Given the description of an element on the screen output the (x, y) to click on. 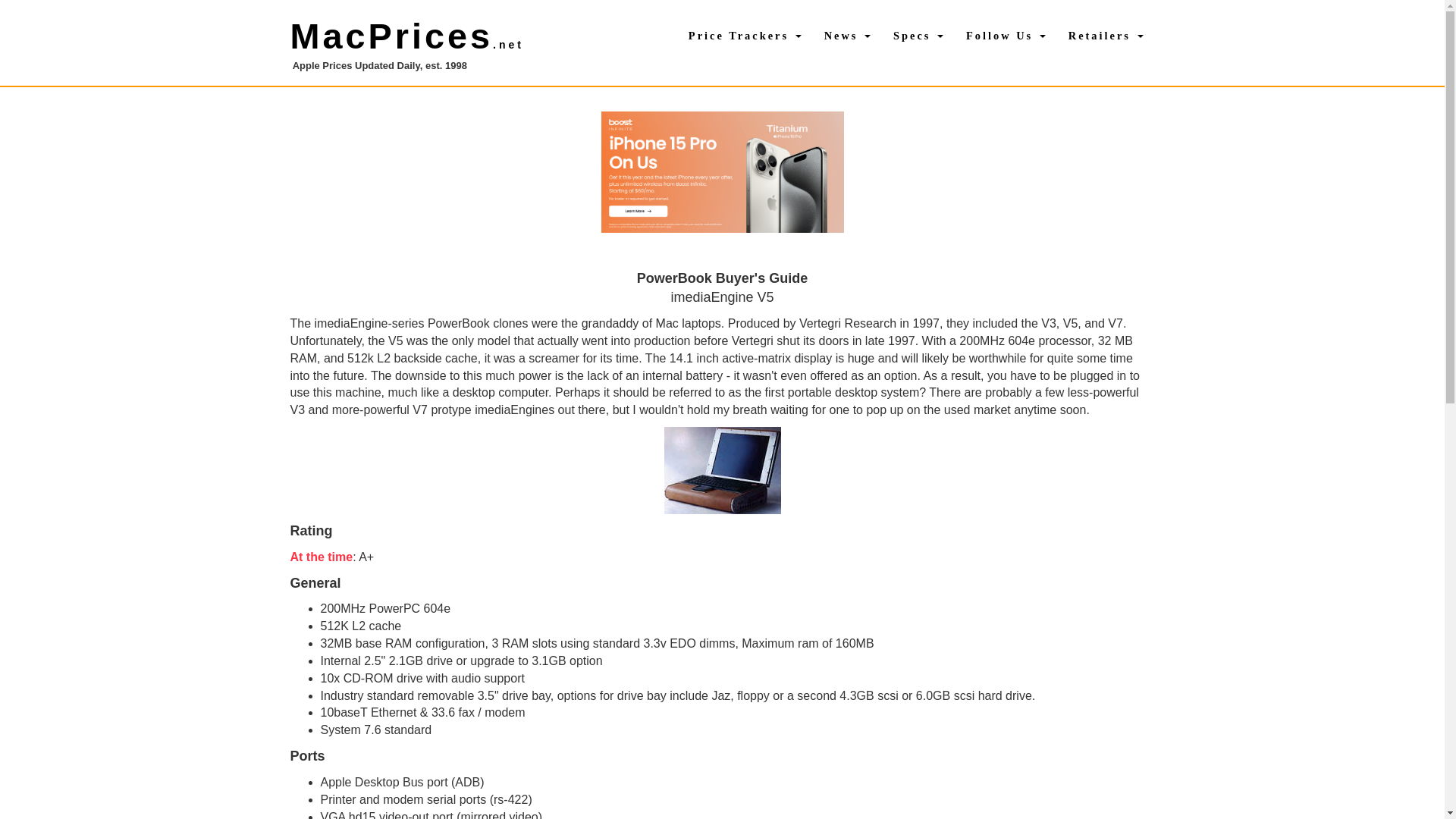
Price Trackers (745, 35)
MacPrices.net (406, 36)
Specs (918, 35)
News (847, 35)
